Given the description of an element on the screen output the (x, y) to click on. 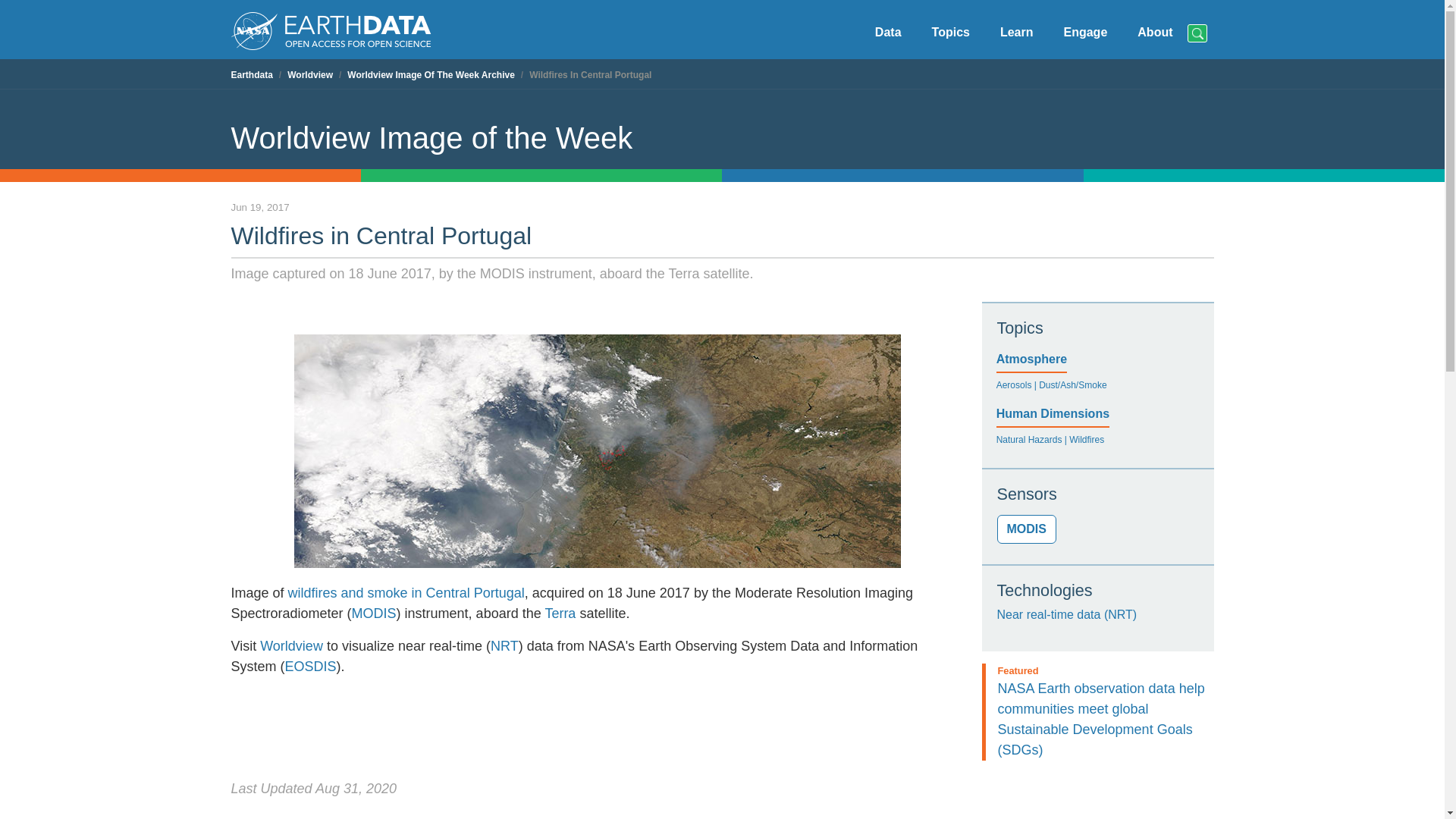
Home (330, 29)
MODIS (1025, 529)
Topics (951, 32)
Learn (1016, 32)
